Given the description of an element on the screen output the (x, y) to click on. 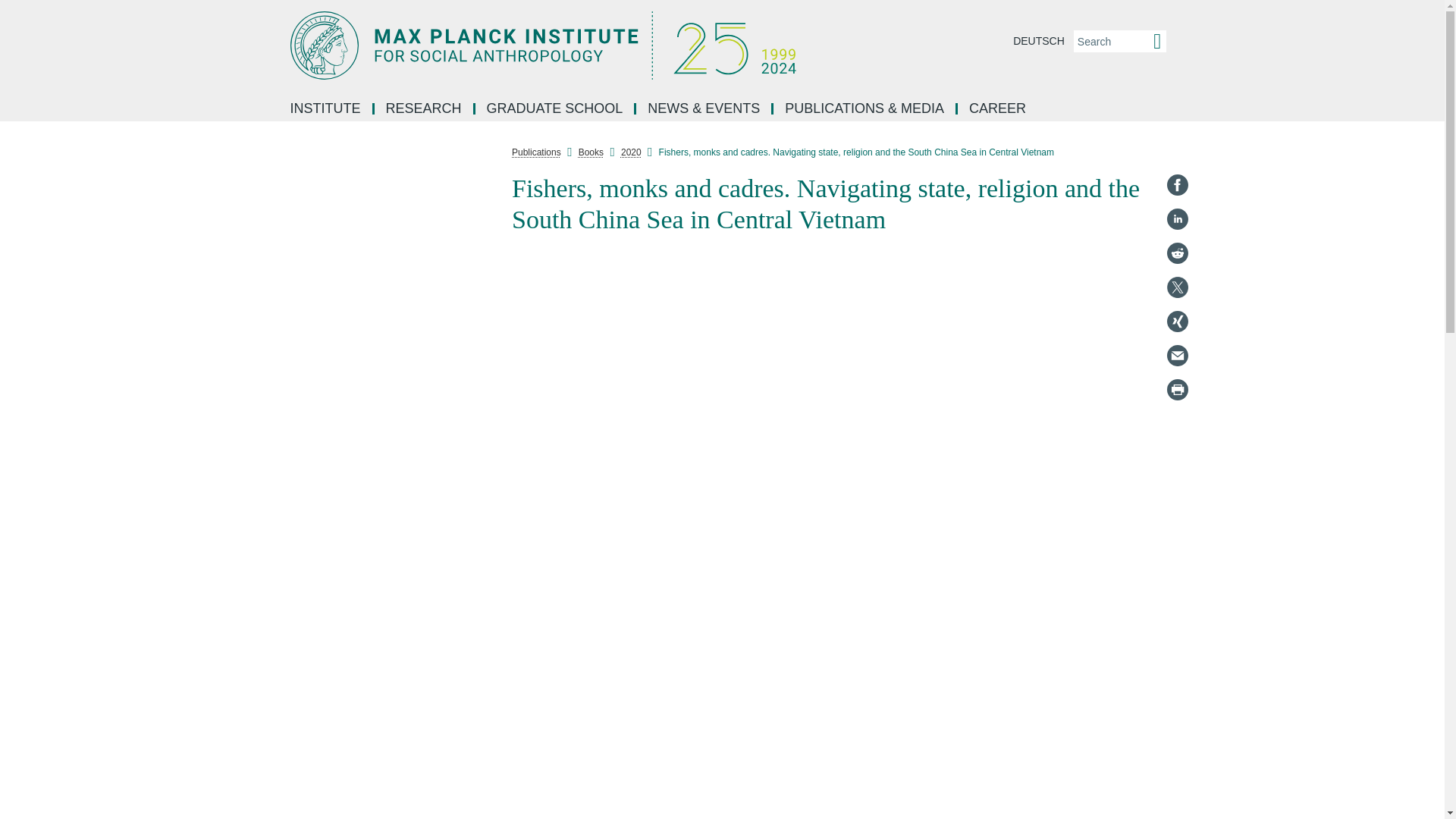
Xing (1177, 321)
Print (1177, 389)
RESEARCH (425, 108)
INSTITUTE (326, 108)
LinkedIn (1177, 219)
Reddit (1177, 252)
E-Mail (1177, 354)
Facebook (1177, 184)
DEUTSCH (1038, 41)
Twitter (1177, 287)
